Given the description of an element on the screen output the (x, y) to click on. 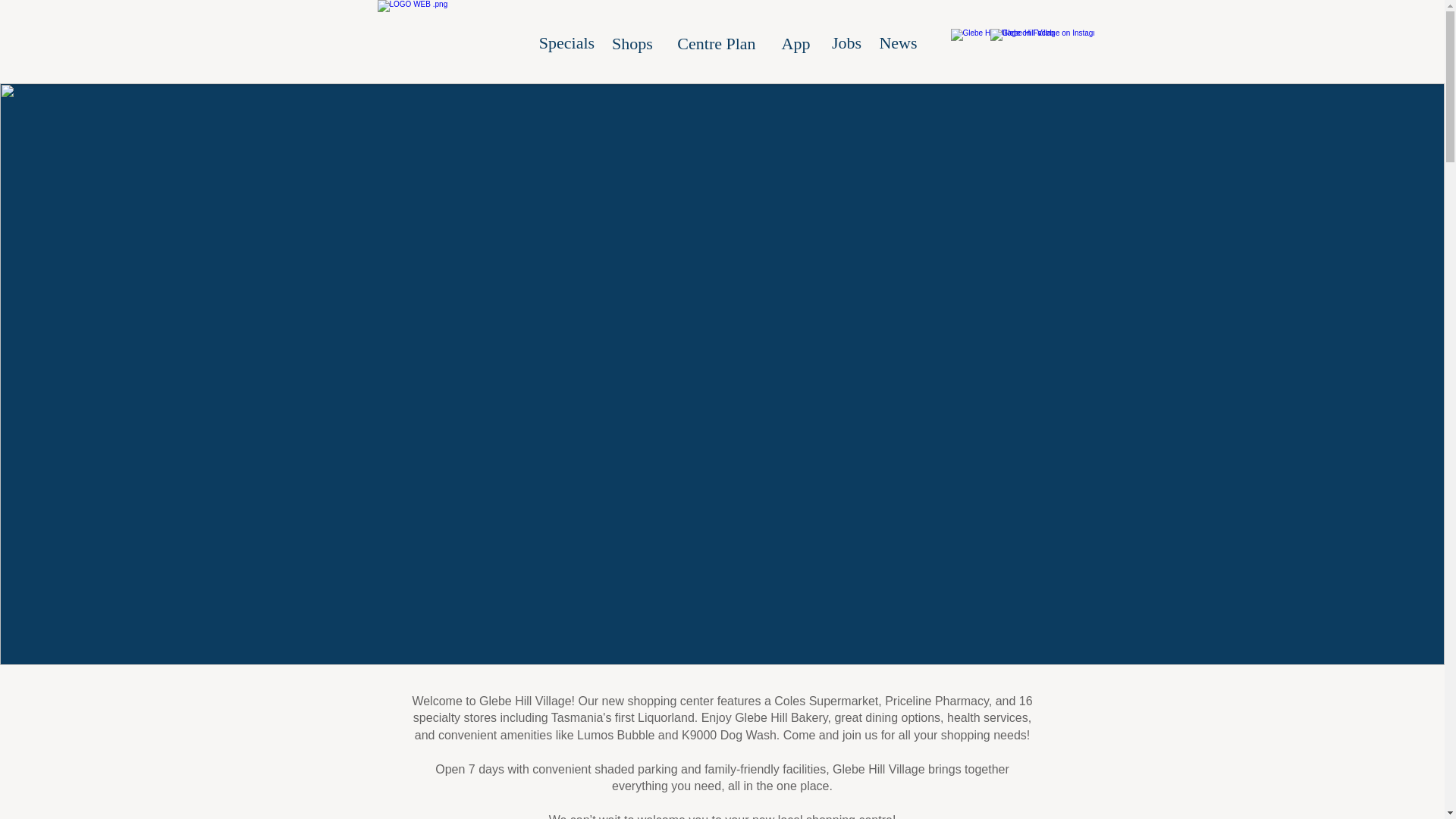
Shops Element type: text (632, 43)
News Element type: text (897, 43)
Centre Plan Element type: text (715, 43)
App Element type: text (795, 43)
Specials Element type: text (566, 43)
Jobs Element type: text (846, 43)
